Given the description of an element on the screen output the (x, y) to click on. 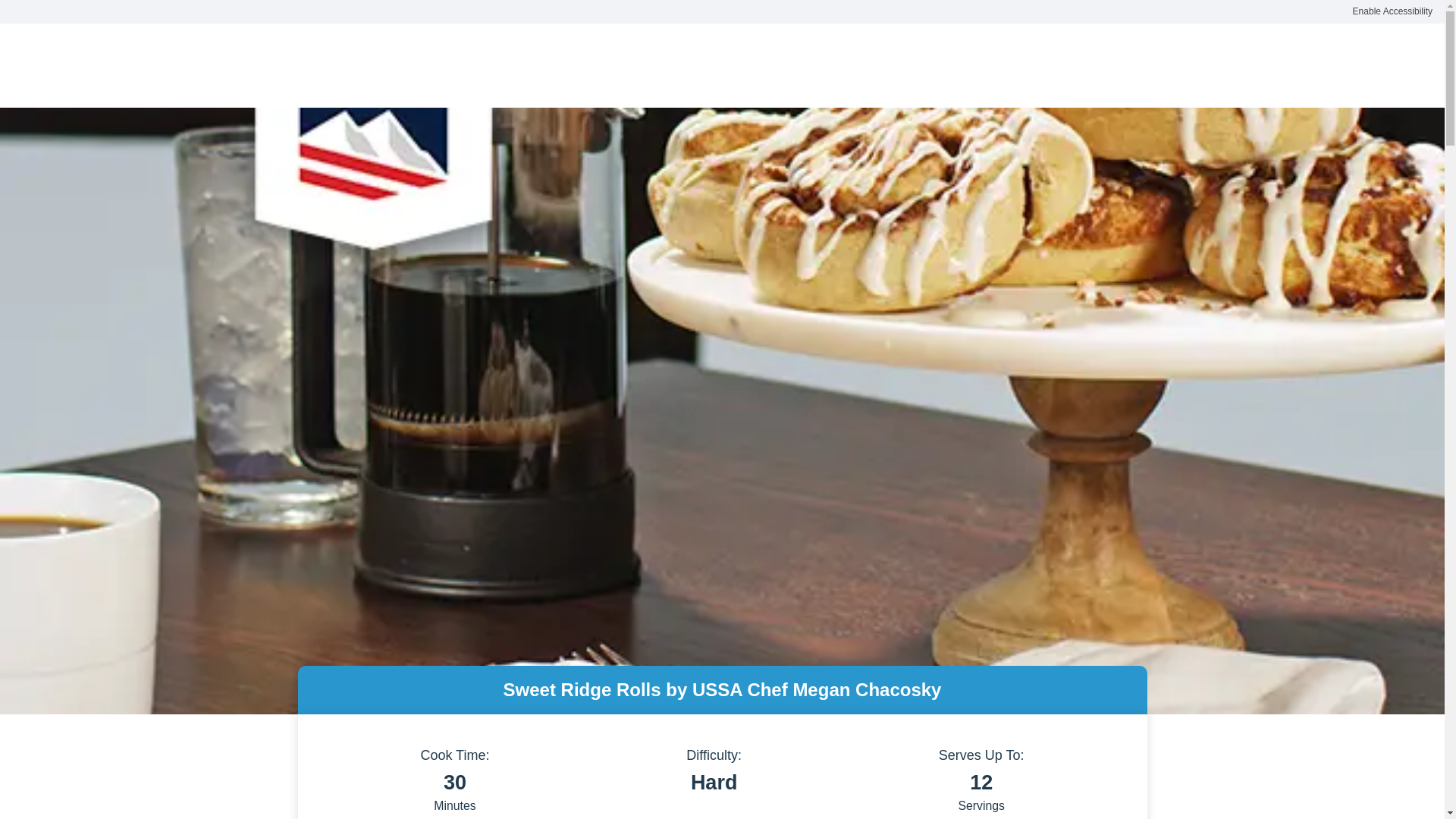
Skip to main content (71, 21)
Enable Accessibility (1392, 11)
